Given the description of an element on the screen output the (x, y) to click on. 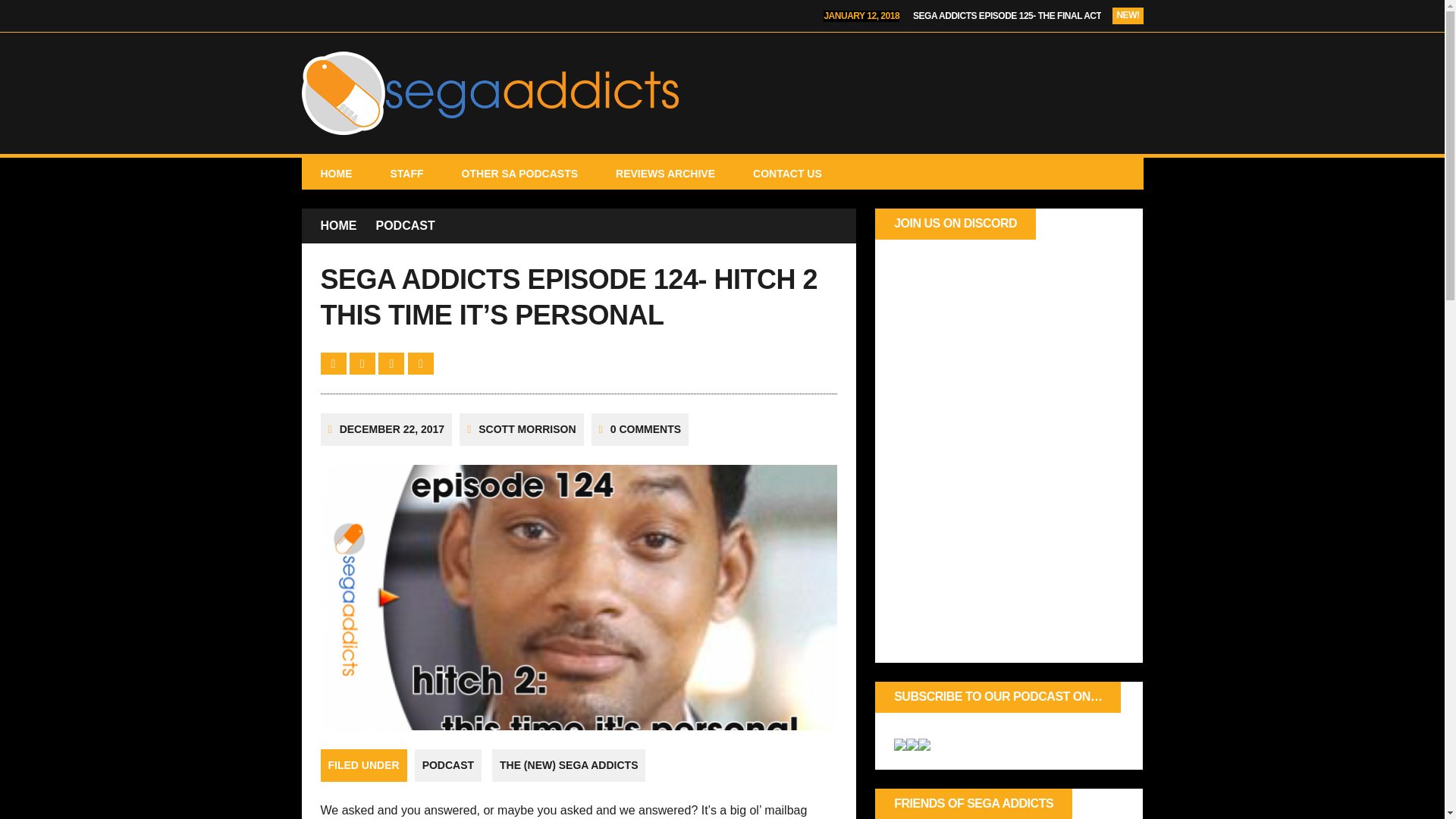
Sega Addicts (721, 93)
SCOTT MORRISON (527, 428)
SEGA ADDICTS EPISODE 125- THE FINAL ACT (1006, 15)
PODCAST (447, 765)
Sega Addicts Episode 125- The Final Act (1006, 15)
CONTACT US (787, 173)
HOME (336, 173)
HOME (338, 225)
Share on Facebook (334, 363)
REVIEWS ARCHIVE (664, 173)
